Given the description of an element on the screen output the (x, y) to click on. 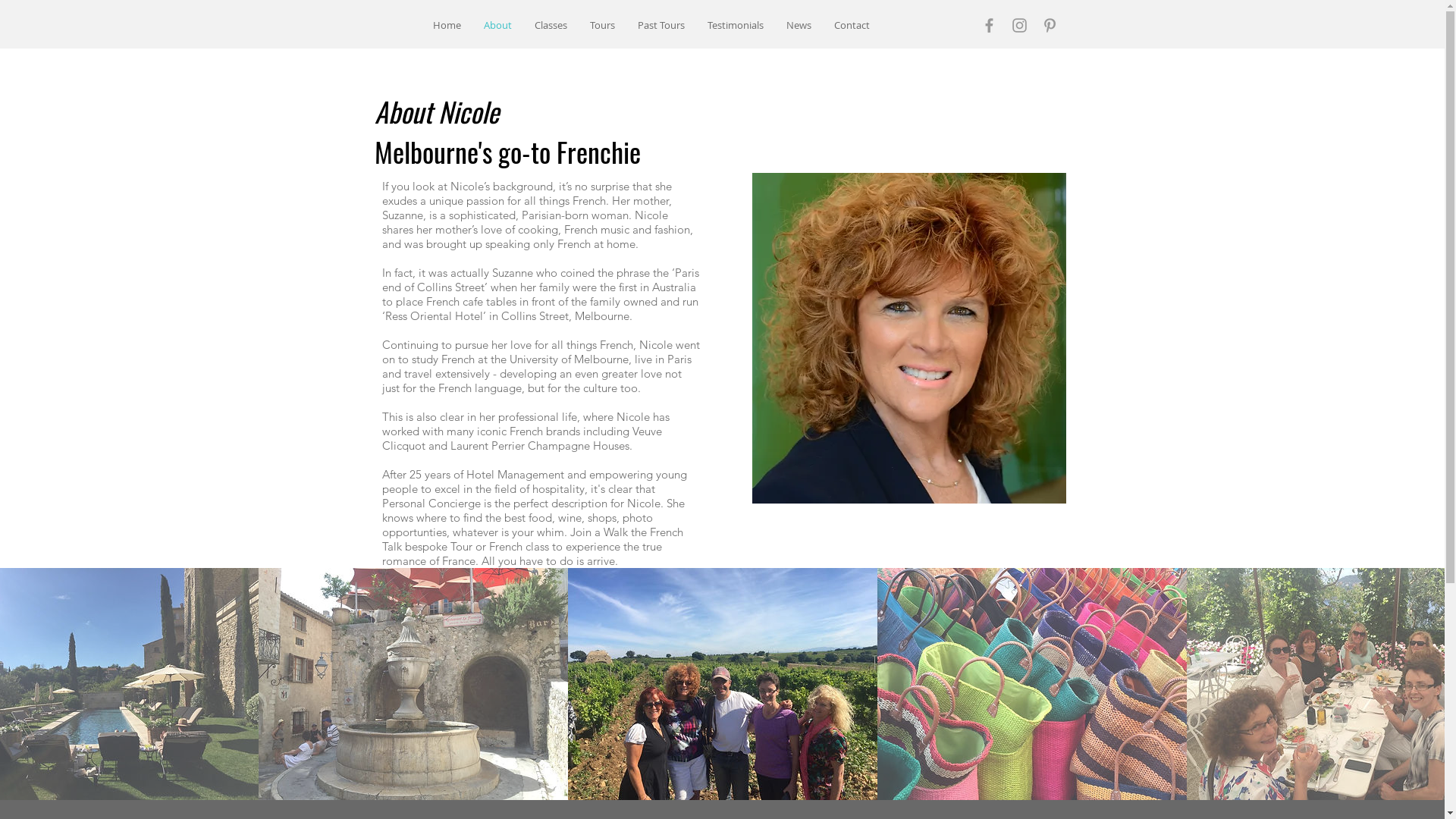
Testimonials Element type: text (735, 25)
News Element type: text (798, 25)
About Element type: text (496, 25)
Classes Element type: text (550, 25)
Tours Element type: text (601, 25)
Home Element type: text (446, 25)
nicoleress.jpeg Element type: hover (909, 337)
Contact Element type: text (851, 25)
